Given the description of an element on the screen output the (x, y) to click on. 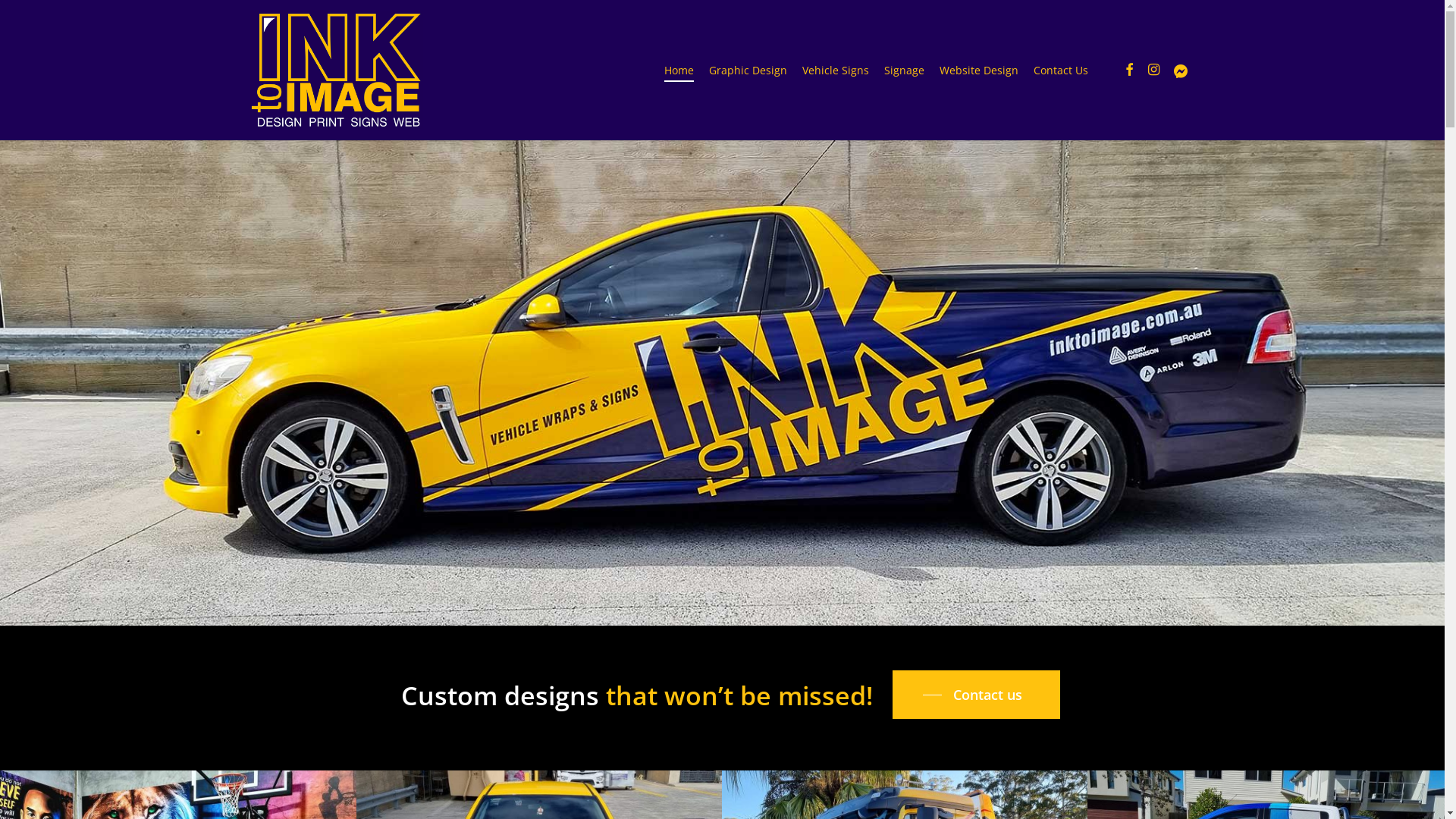
Website Design Element type: text (978, 69)
Home Element type: text (678, 69)
Contact Us Element type: text (1060, 69)
Vehicle Signs Element type: text (835, 69)
messenger Element type: text (1180, 69)
facebook Element type: text (1128, 69)
Graphic Design Element type: text (748, 69)
Contact us Element type: text (975, 694)
instagram Element type: text (1153, 69)
Signage Element type: text (904, 69)
